Given the description of an element on the screen output the (x, y) to click on. 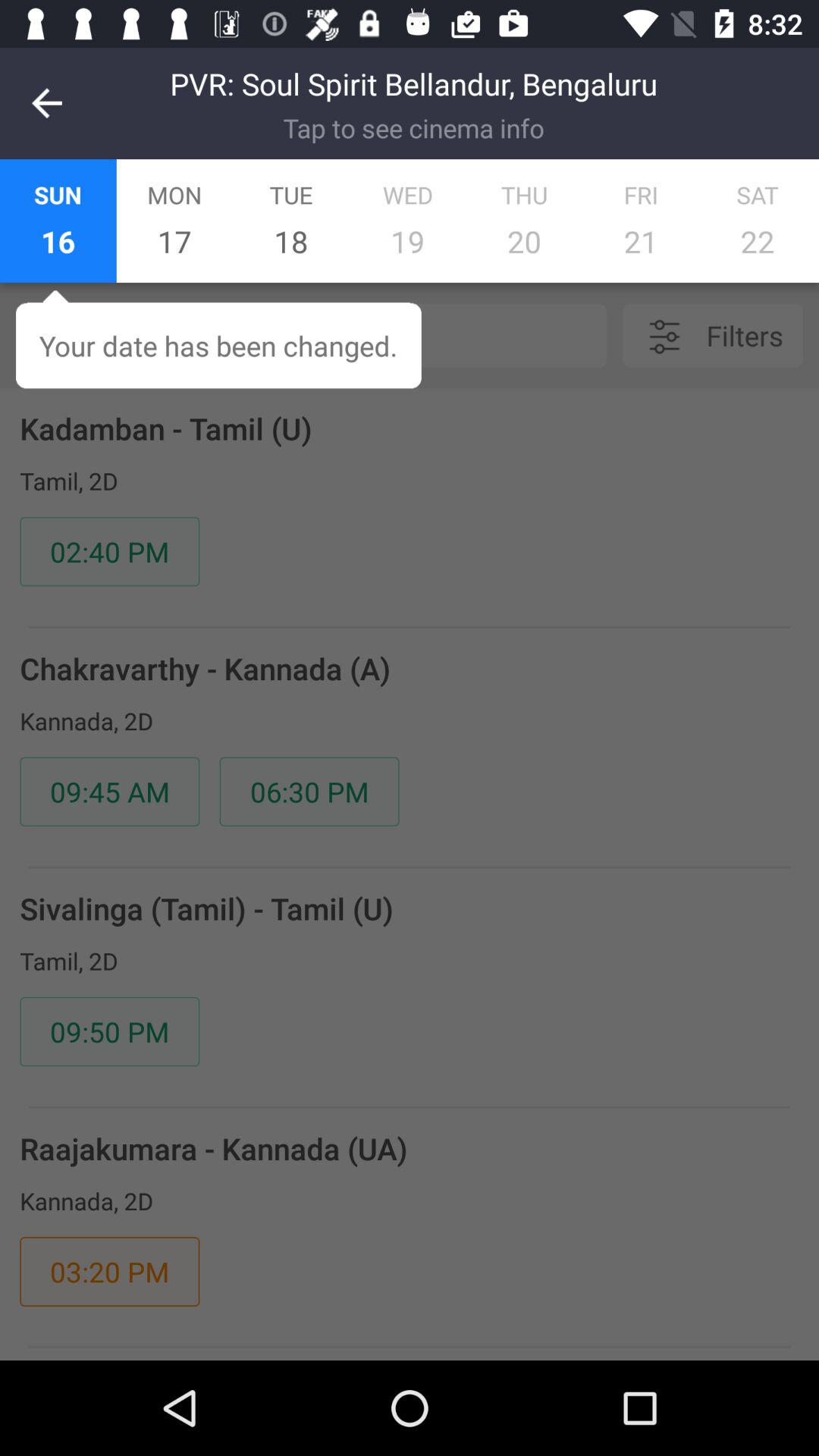
turn on 02:40 pm icon (109, 551)
